Given the description of an element on the screen output the (x, y) to click on. 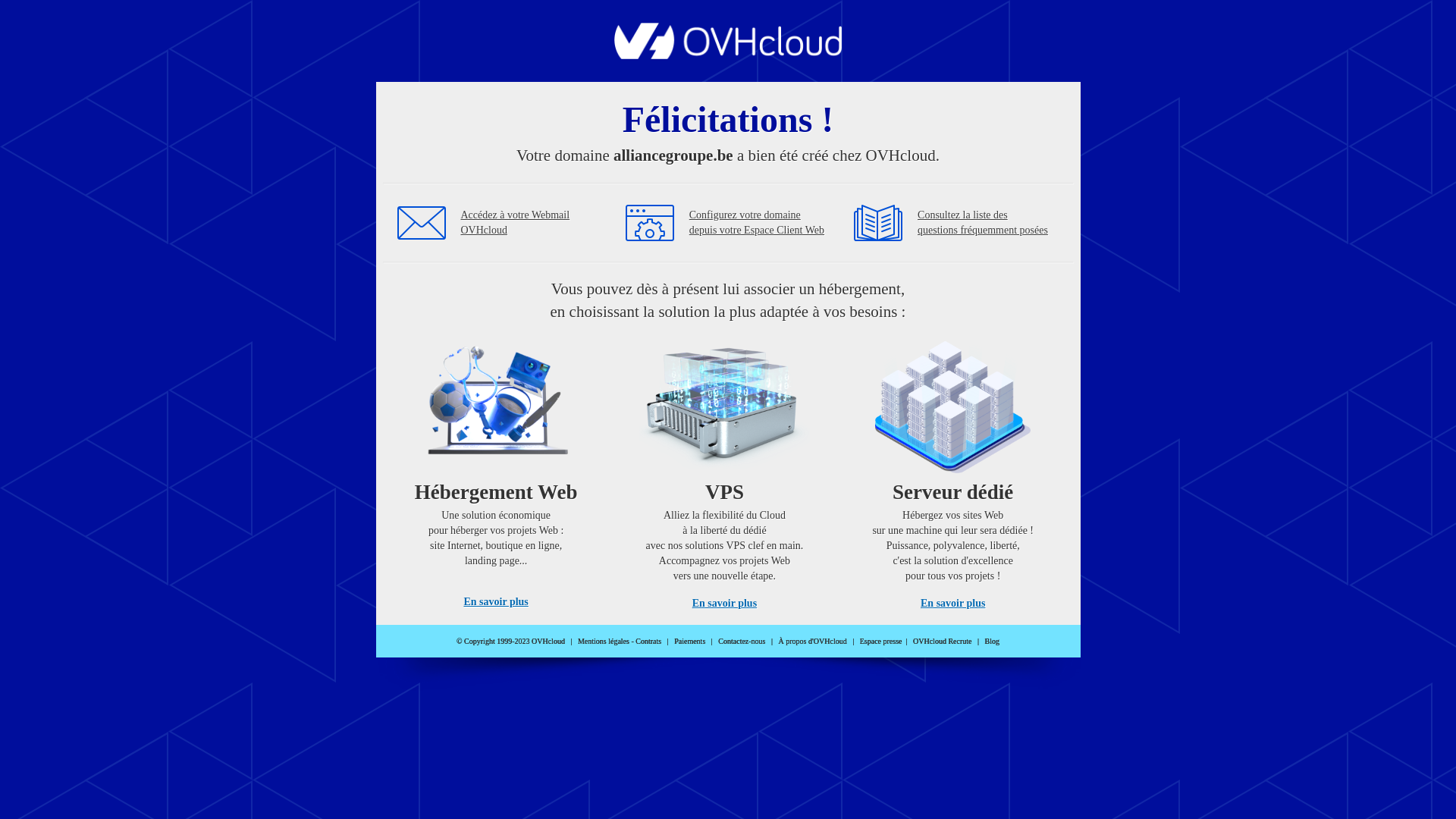
En savoir plus Element type: text (952, 602)
OVHcloud Recrute Element type: text (942, 641)
En savoir plus Element type: text (495, 601)
OVHcloud Element type: hover (727, 54)
Espace presse Element type: text (880, 641)
Contactez-nous Element type: text (741, 641)
VPS Element type: hover (724, 469)
Paiements Element type: text (689, 641)
Configurez votre domaine
depuis votre Espace Client Web Element type: text (756, 222)
En savoir plus Element type: text (724, 602)
Blog Element type: text (992, 641)
